Given the description of an element on the screen output the (x, y) to click on. 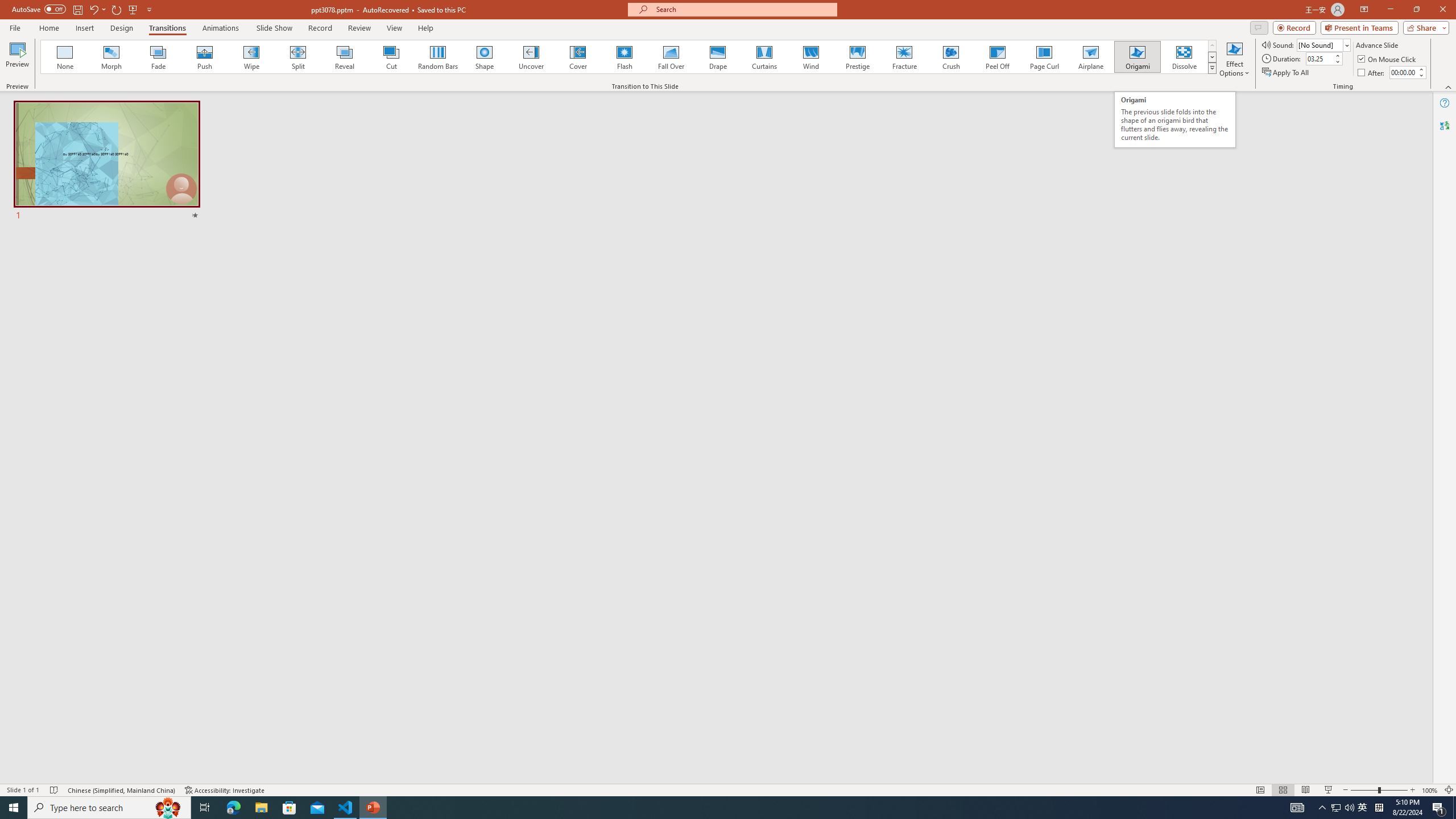
Apply To All (1286, 72)
